Given the description of an element on the screen output the (x, y) to click on. 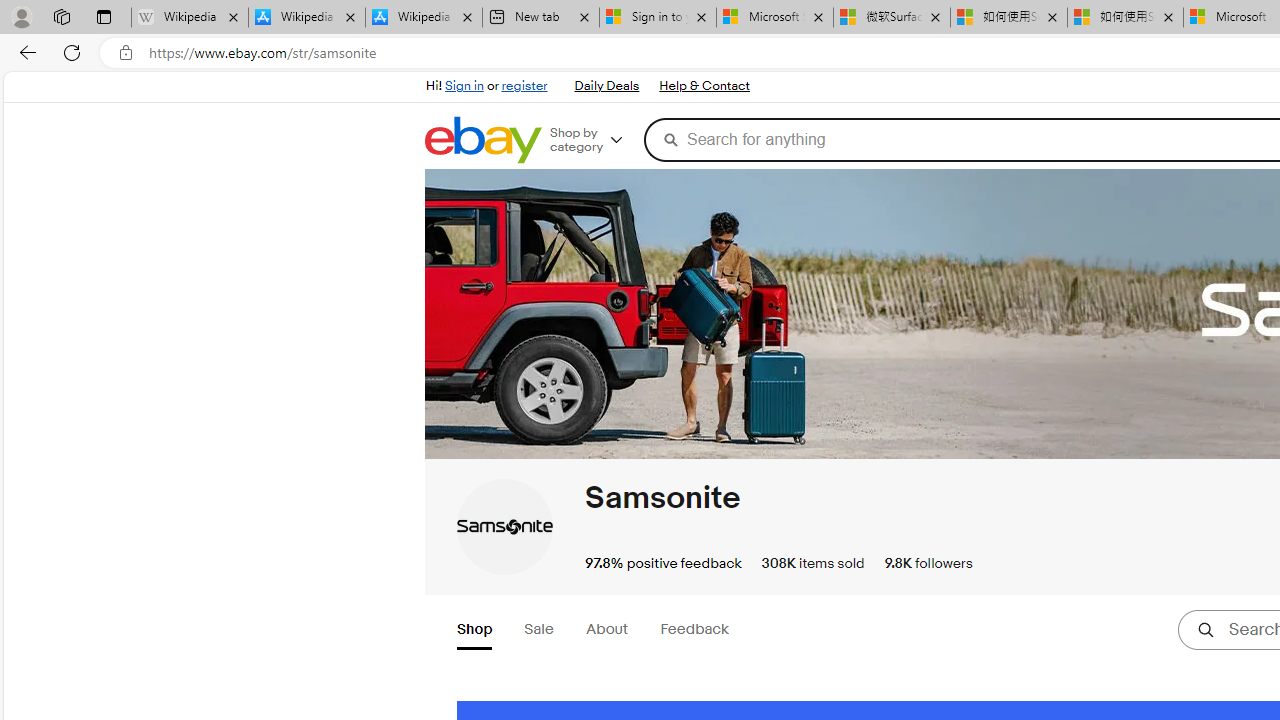
Daily Deals (605, 85)
Sign in to your Microsoft account (657, 17)
Shop (474, 631)
register (523, 85)
About (606, 630)
Help & Contact (704, 86)
eBay Home (482, 139)
Samsonite (504, 526)
Sale (538, 630)
